Given the description of an element on the screen output the (x, y) to click on. 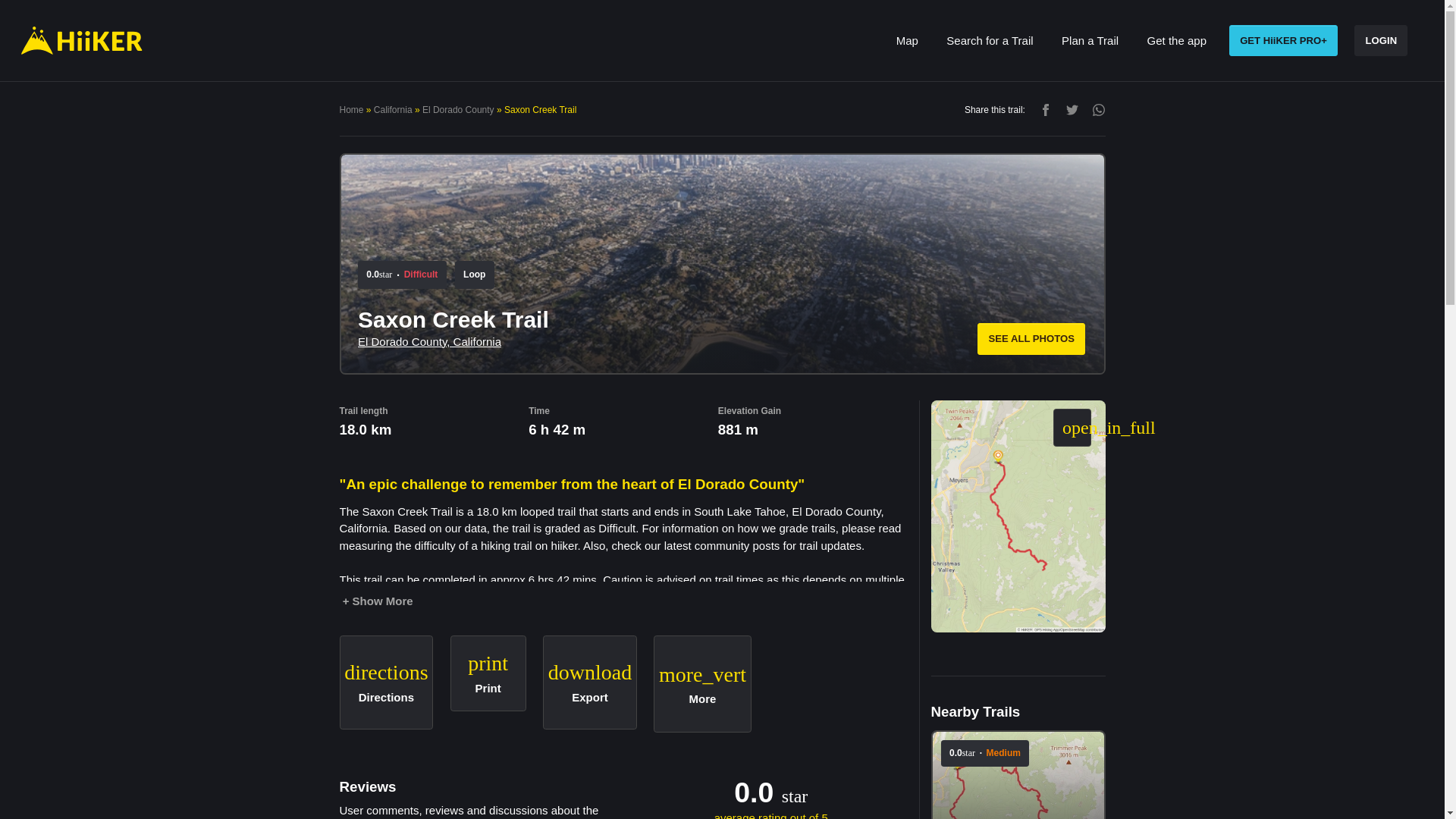
Get the app (1176, 40)
Plan a Trail (394, 683)
El Dorado County (1090, 40)
Home (458, 109)
Search for a Trail (351, 109)
Map (989, 40)
LOGIN (906, 40)
El Dorado County, California (1380, 40)
